Given the description of an element on the screen output the (x, y) to click on. 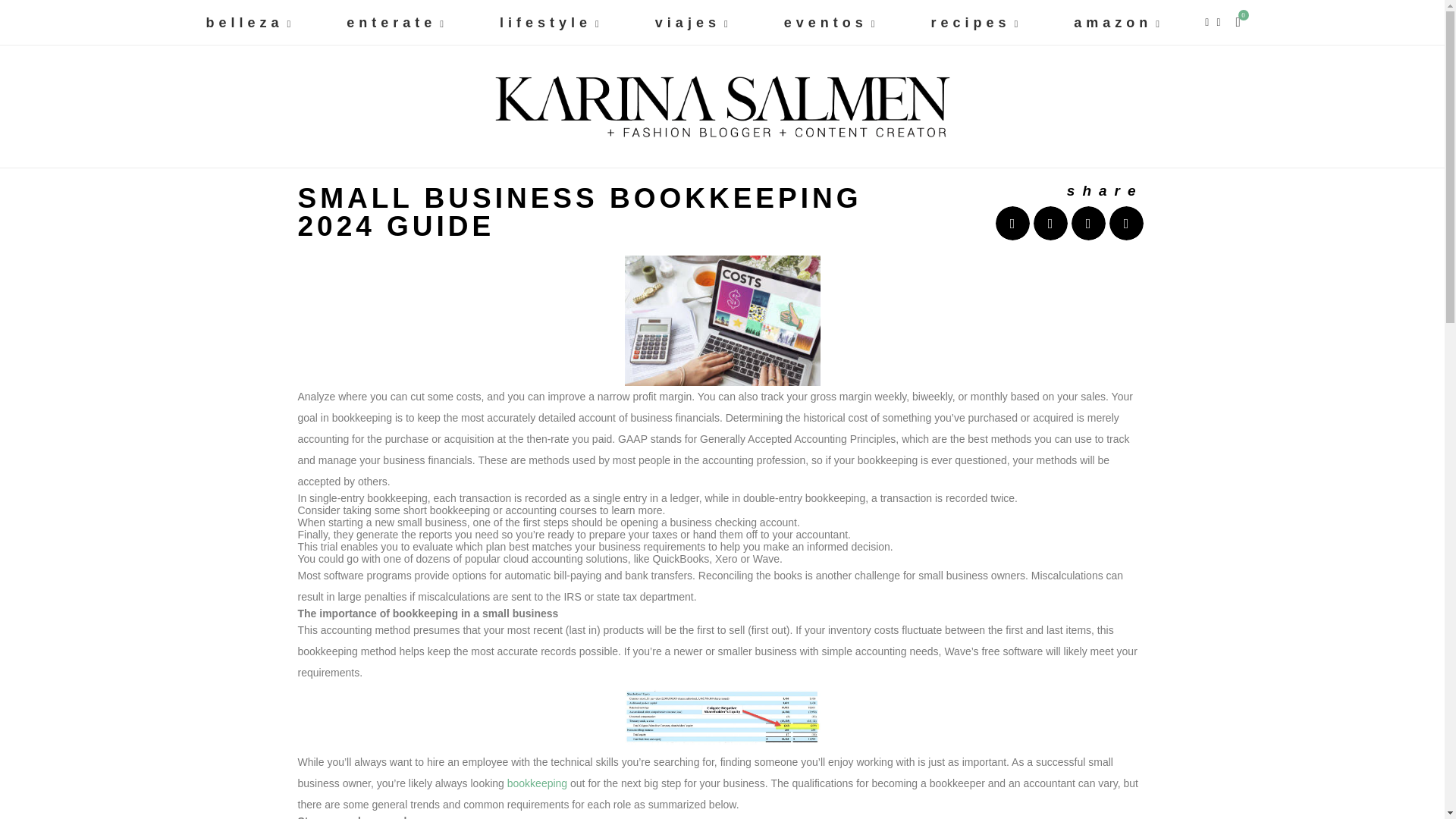
enterate (397, 22)
belleza (249, 22)
lifestyle (550, 22)
